Given the description of an element on the screen output the (x, y) to click on. 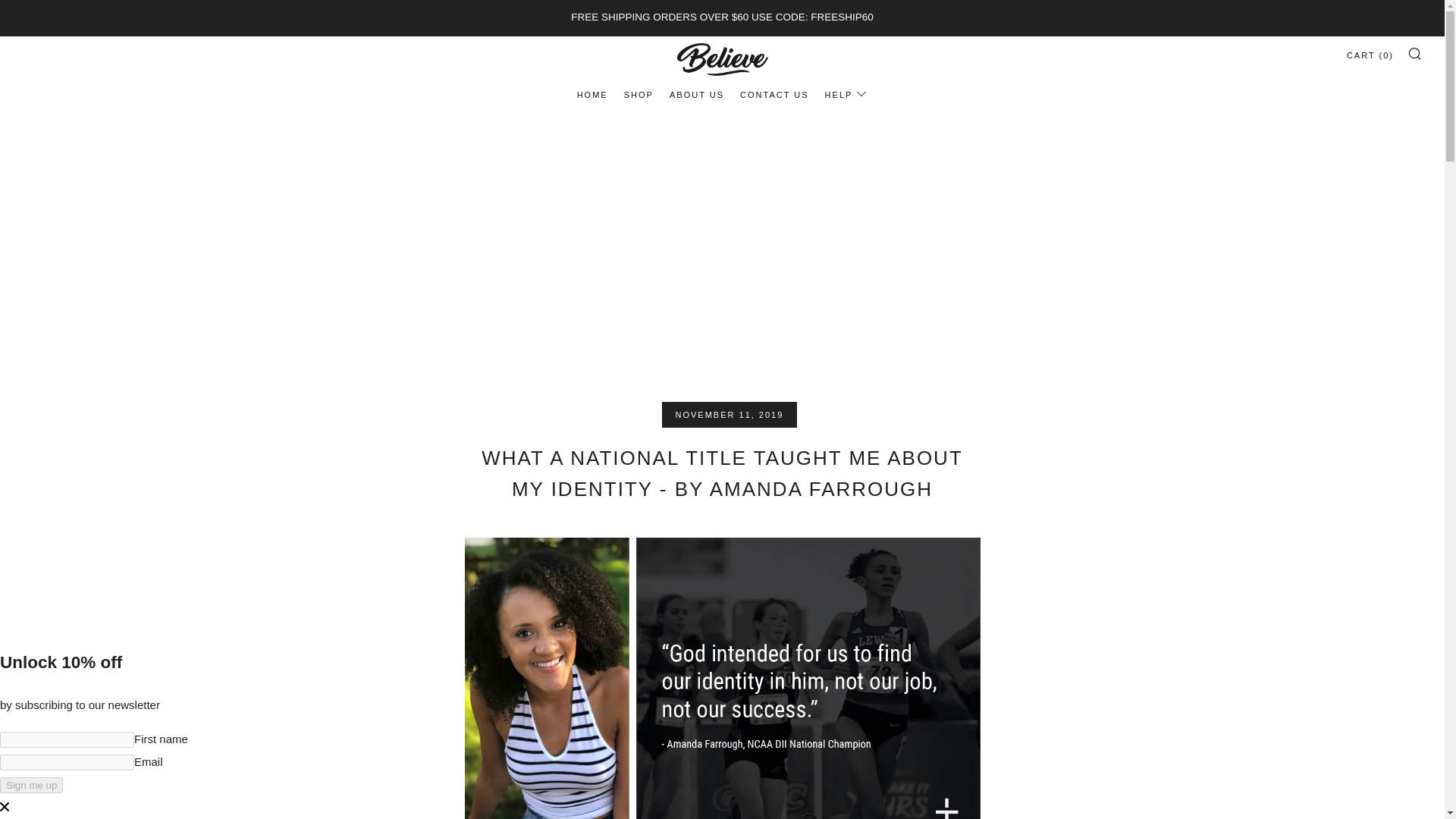
SHOP (638, 94)
ABOUT US (696, 94)
HOME (592, 94)
SEARCH (1414, 52)
CONTACT US (774, 94)
HELP (846, 94)
